Given the description of an element on the screen output the (x, y) to click on. 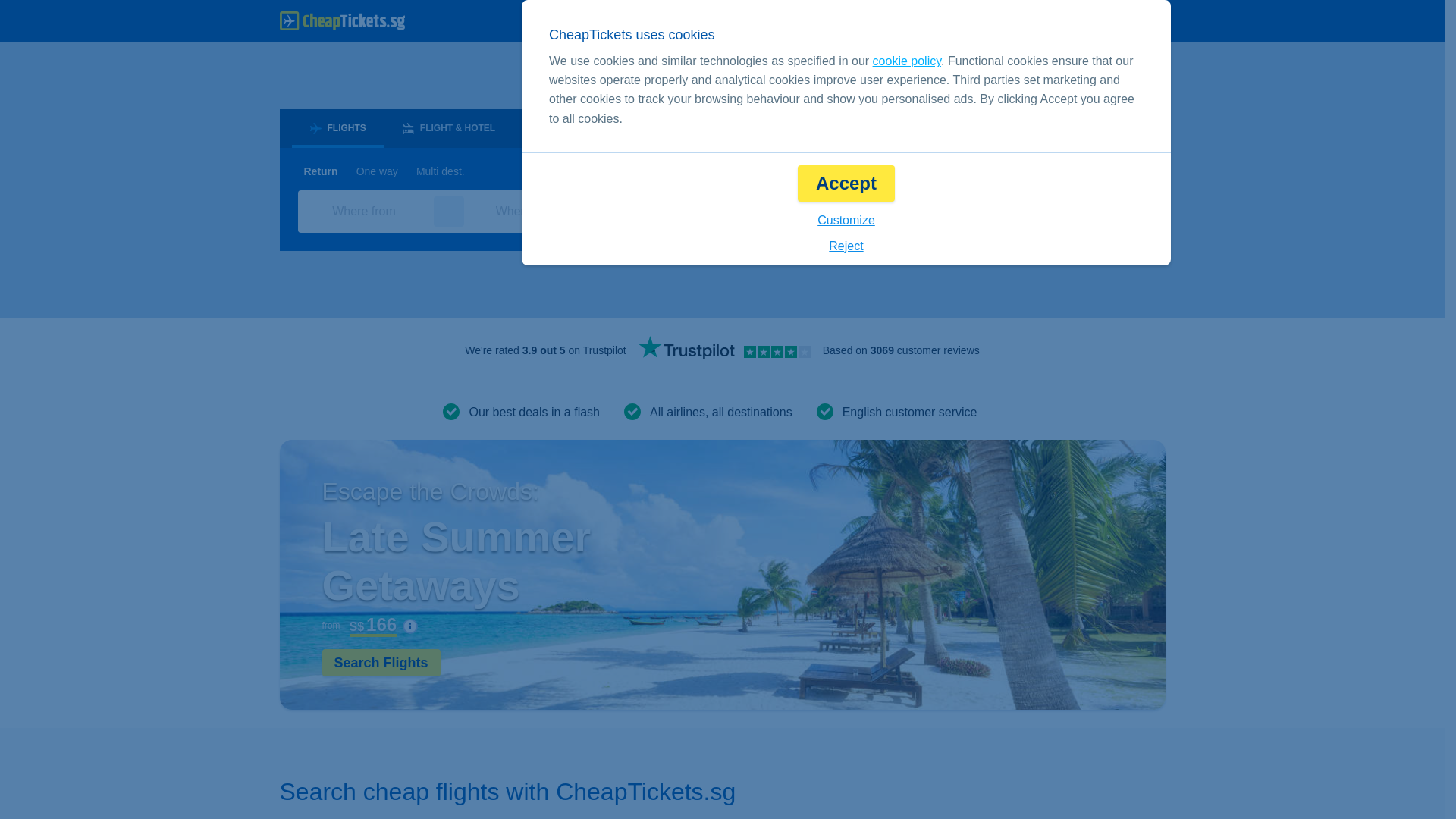
Based on 3069 customer reviews (900, 350)
Search (1087, 211)
English (902, 21)
My Account (1116, 21)
Search Flights (380, 662)
